Given the description of an element on the screen output the (x, y) to click on. 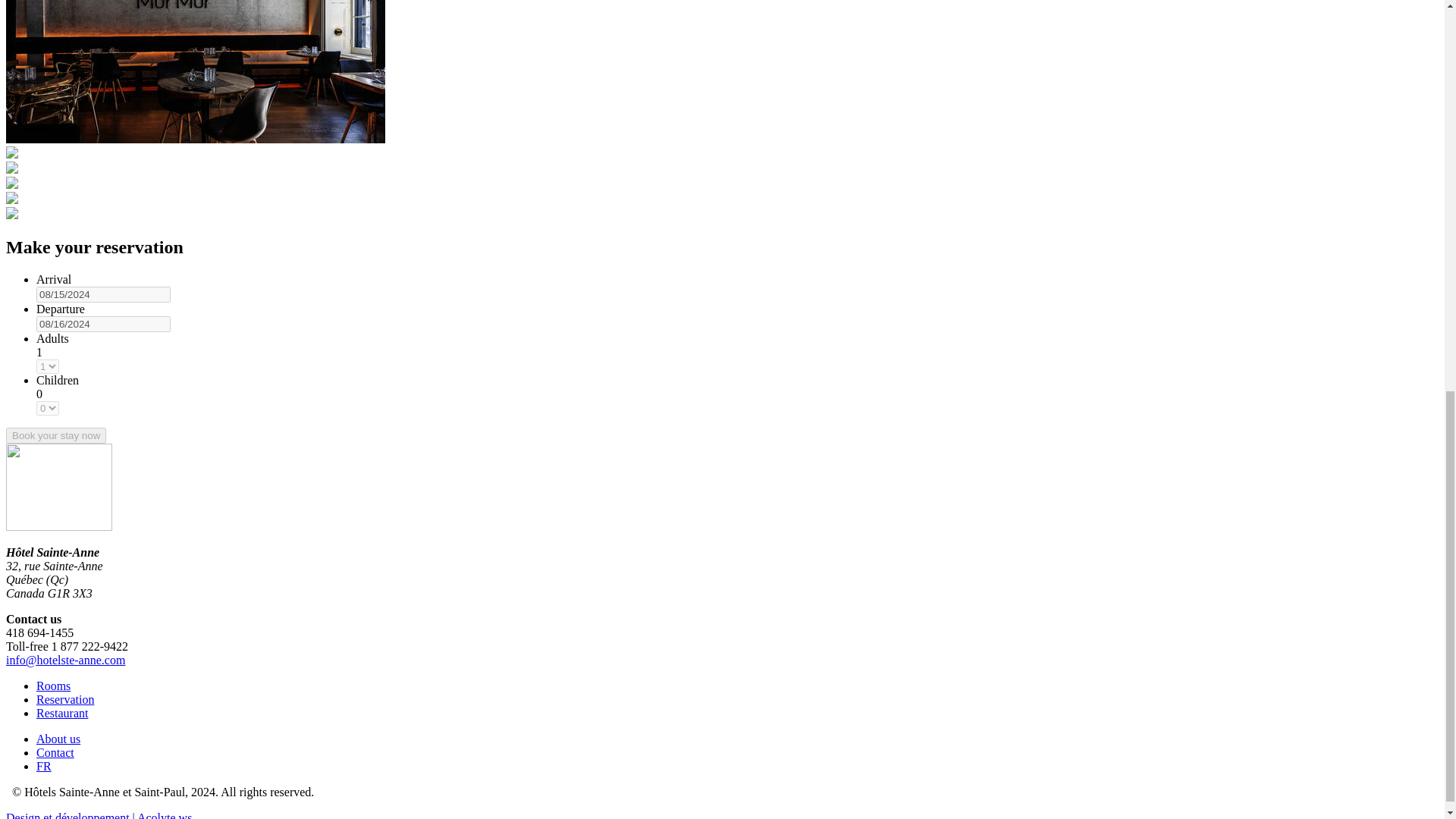
Book your stay now (55, 435)
Restaurant (61, 712)
Rooms (52, 685)
Reservation (65, 698)
About us (58, 738)
FR (43, 766)
Reservation (65, 698)
About us (58, 738)
Rooms (52, 685)
Contact (55, 752)
